Given the description of an element on the screen output the (x, y) to click on. 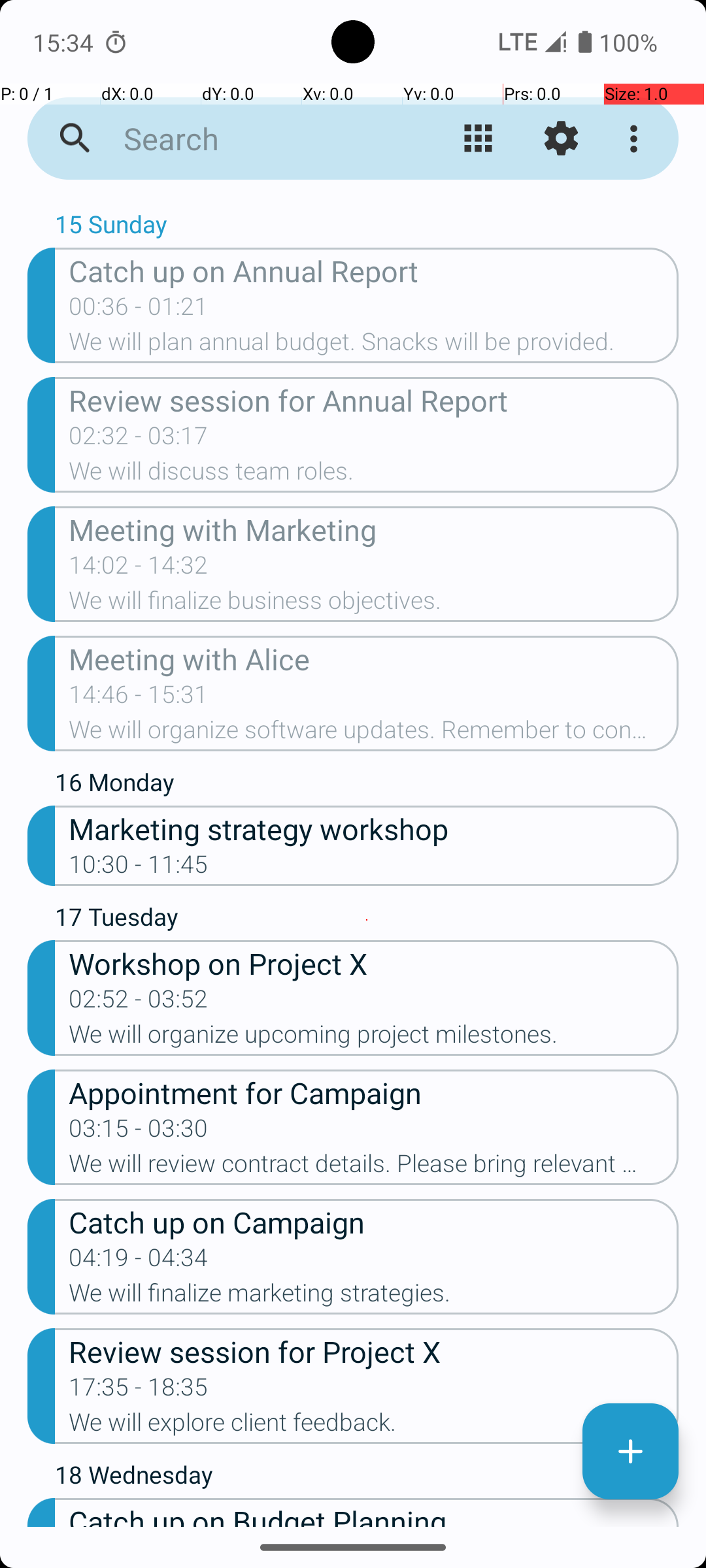
00:36 - 01:21 Element type: android.widget.TextView (137, 309)
We will plan annual budget. Snacks will be provided. Element type: android.widget.TextView (373, 345)
02:32 - 03:17 Element type: android.widget.TextView (137, 439)
We will discuss team roles. Element type: android.widget.TextView (373, 474)
14:02 - 14:32 Element type: android.widget.TextView (137, 568)
We will finalize business objectives. Element type: android.widget.TextView (373, 603)
14:46 - 15:31 Element type: android.widget.TextView (137, 698)
We will organize software updates. Remember to confirm attendance. Element type: android.widget.TextView (373, 733)
Marketing strategy workshop Element type: android.widget.TextView (373, 827)
10:30 - 11:45 Element type: android.widget.TextView (137, 867)
02:52 - 03:52 Element type: android.widget.TextView (137, 1002)
We will organize upcoming project milestones. Element type: android.widget.TextView (373, 1037)
03:15 - 03:30 Element type: android.widget.TextView (137, 1131)
We will review contract details. Please bring relevant documents. Element type: android.widget.TextView (373, 1167)
04:19 - 04:34 Element type: android.widget.TextView (137, 1261)
We will finalize marketing strategies. Element type: android.widget.TextView (373, 1296)
17:35 - 18:35 Element type: android.widget.TextView (137, 1390)
We will explore client feedback. Element type: android.widget.TextView (373, 1425)
